Given the description of an element on the screen output the (x, y) to click on. 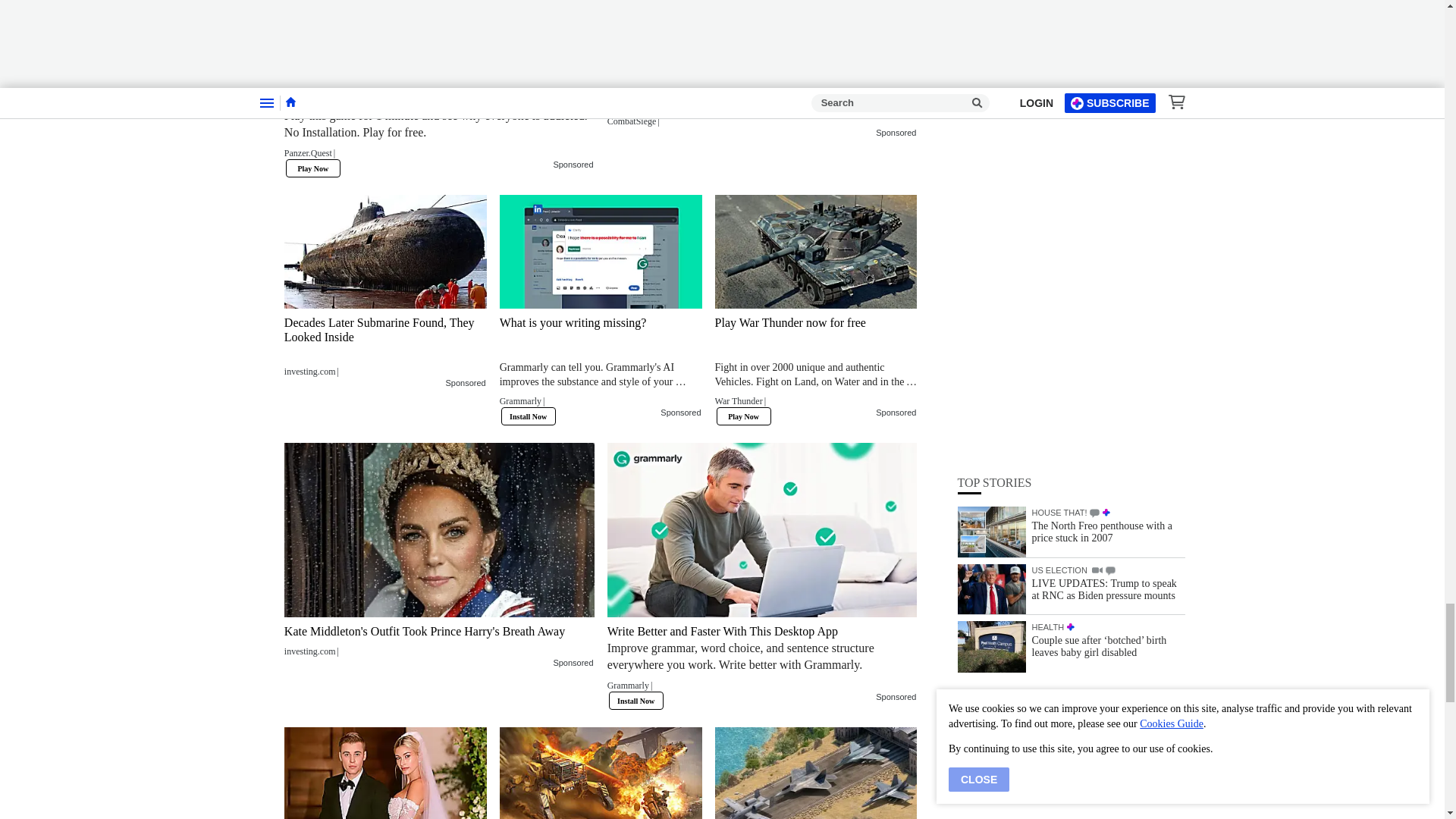
If you own a mouse, you have to play this game. (762, 35)
What is your writing missing? (600, 365)
Decades Later Submarine Found, They Looked Inside (384, 251)
What is your writing missing? (600, 251)
Decades Later Submarine Found, They Looked Inside (384, 345)
If you own a mouse, you have to play this game. (762, 101)
